Given the description of an element on the screen output the (x, y) to click on. 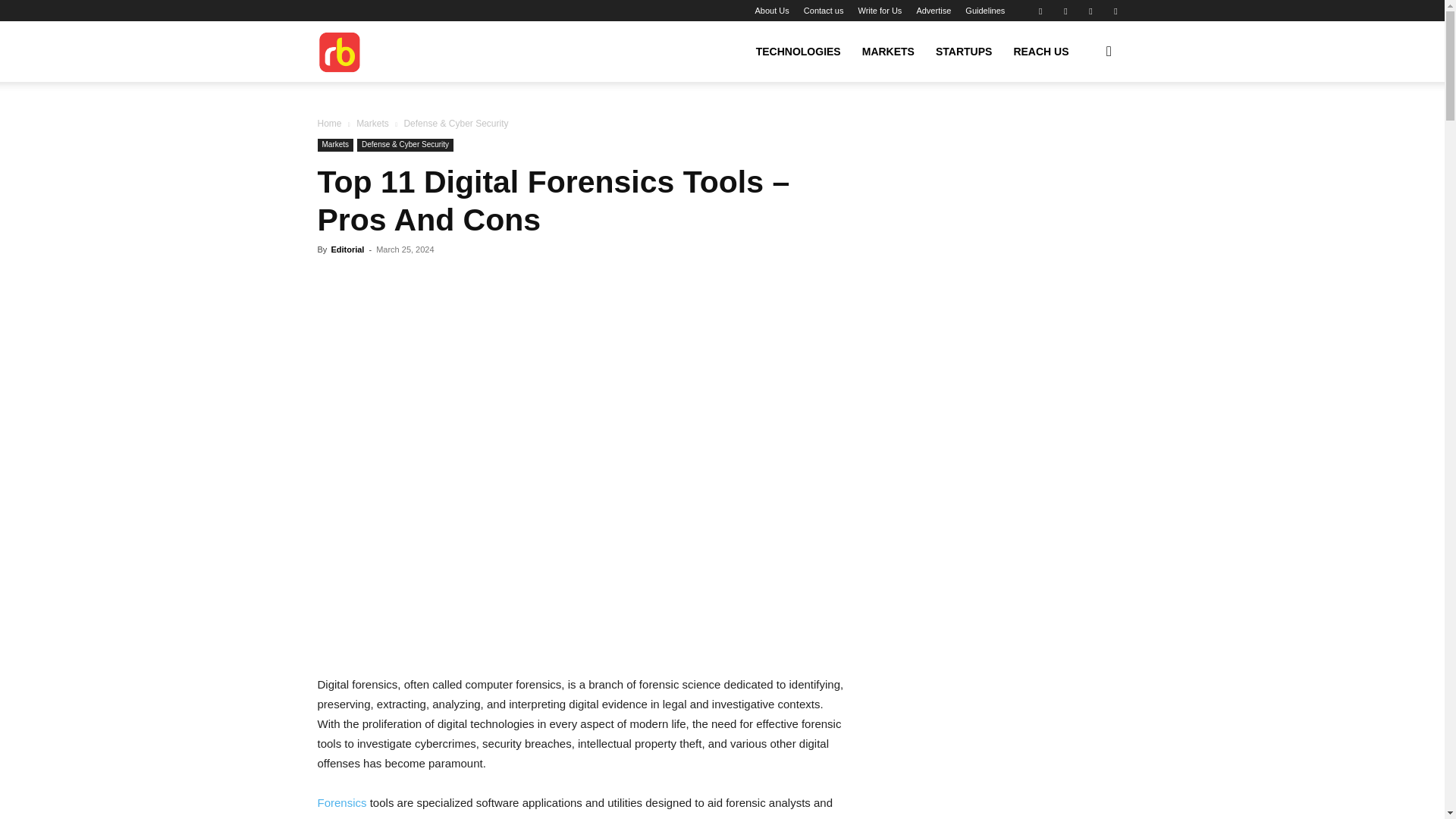
Facebook (1040, 10)
Contact us (823, 10)
Advertise (932, 10)
Guidelines (984, 10)
Twitter (1114, 10)
RSS (1090, 10)
Write for Us (879, 10)
About Us (772, 10)
Linkedin (1065, 10)
